Given the description of an element on the screen output the (x, y) to click on. 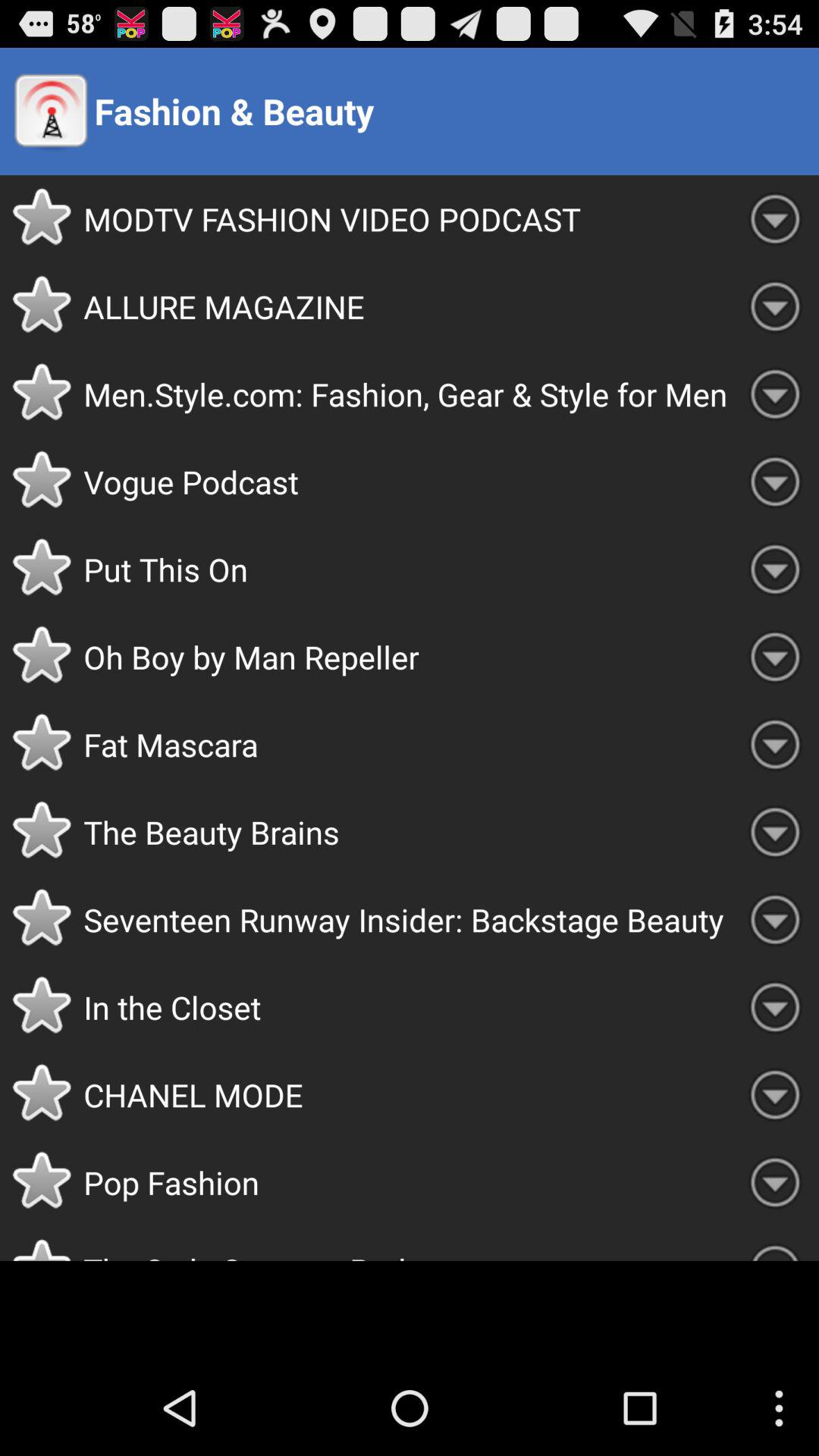
jump to the vogue podcast item (407, 481)
